Given the description of an element on the screen output the (x, y) to click on. 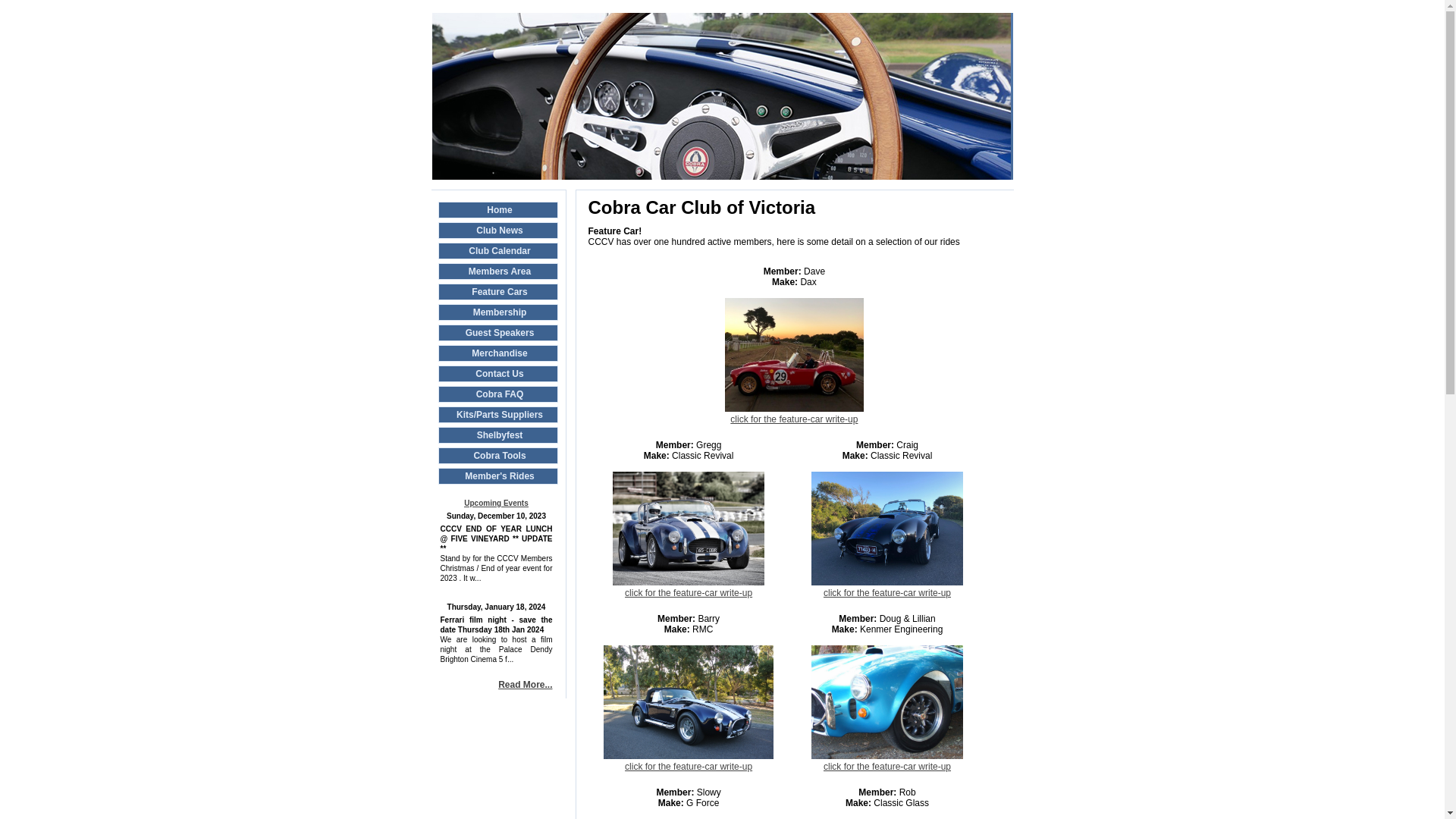
Merchandise Element type: text (497, 352)
click for the feature-car write-up Element type: text (887, 760)
Feature Cars Element type: text (497, 291)
click for the feature-car write-up Element type: text (887, 587)
Kits/Parts Suppliers Element type: text (497, 414)
Cobra Tools Element type: text (497, 455)
Cobra FAQ Element type: text (497, 393)
Club News Element type: text (497, 230)
Guest Speakers Element type: text (497, 332)
Club Calendar Element type: text (497, 250)
click for the feature-car write-up Element type: text (793, 413)
Upcoming Events Element type: text (495, 502)
Contact Us Element type: text (497, 373)
Member's Rides Element type: text (497, 475)
Shelbyfest Element type: text (497, 434)
click for the feature-car write-up Element type: text (688, 587)
Home Element type: text (497, 209)
Read More... Element type: text (525, 684)
Membership Element type: text (497, 312)
Members Area Element type: text (497, 271)
click for the feature-car write-up Element type: text (688, 760)
